Given the description of an element on the screen output the (x, y) to click on. 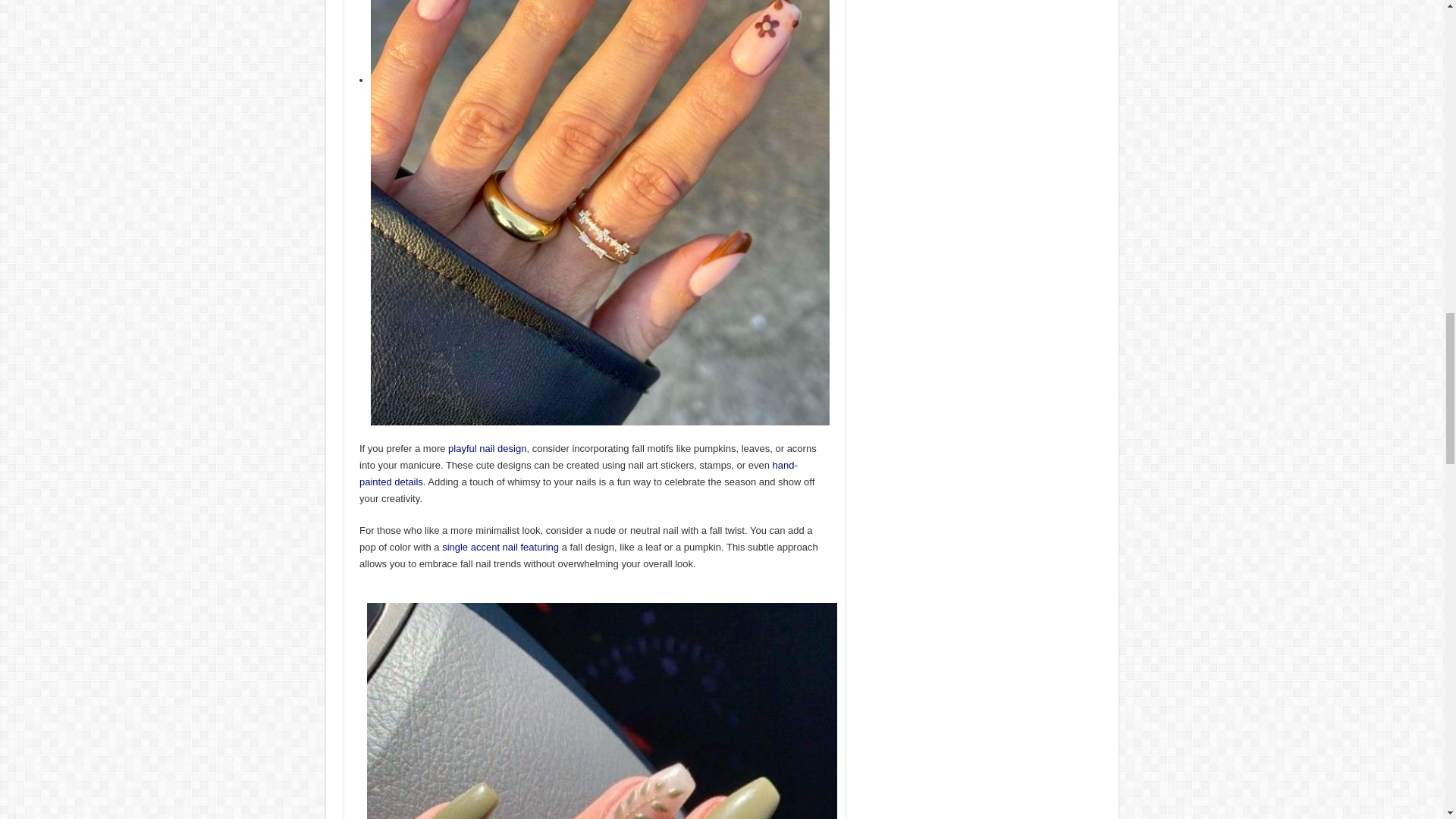
Adorable Nail Designs to Enhance Your Beauty (486, 448)
hand-painted details (578, 473)
playful nail design (486, 448)
Autumn Nail Art Inspirations to Elevate Your Beauty (500, 546)
single accent nail featuring (500, 546)
